Given the description of an element on the screen output the (x, y) to click on. 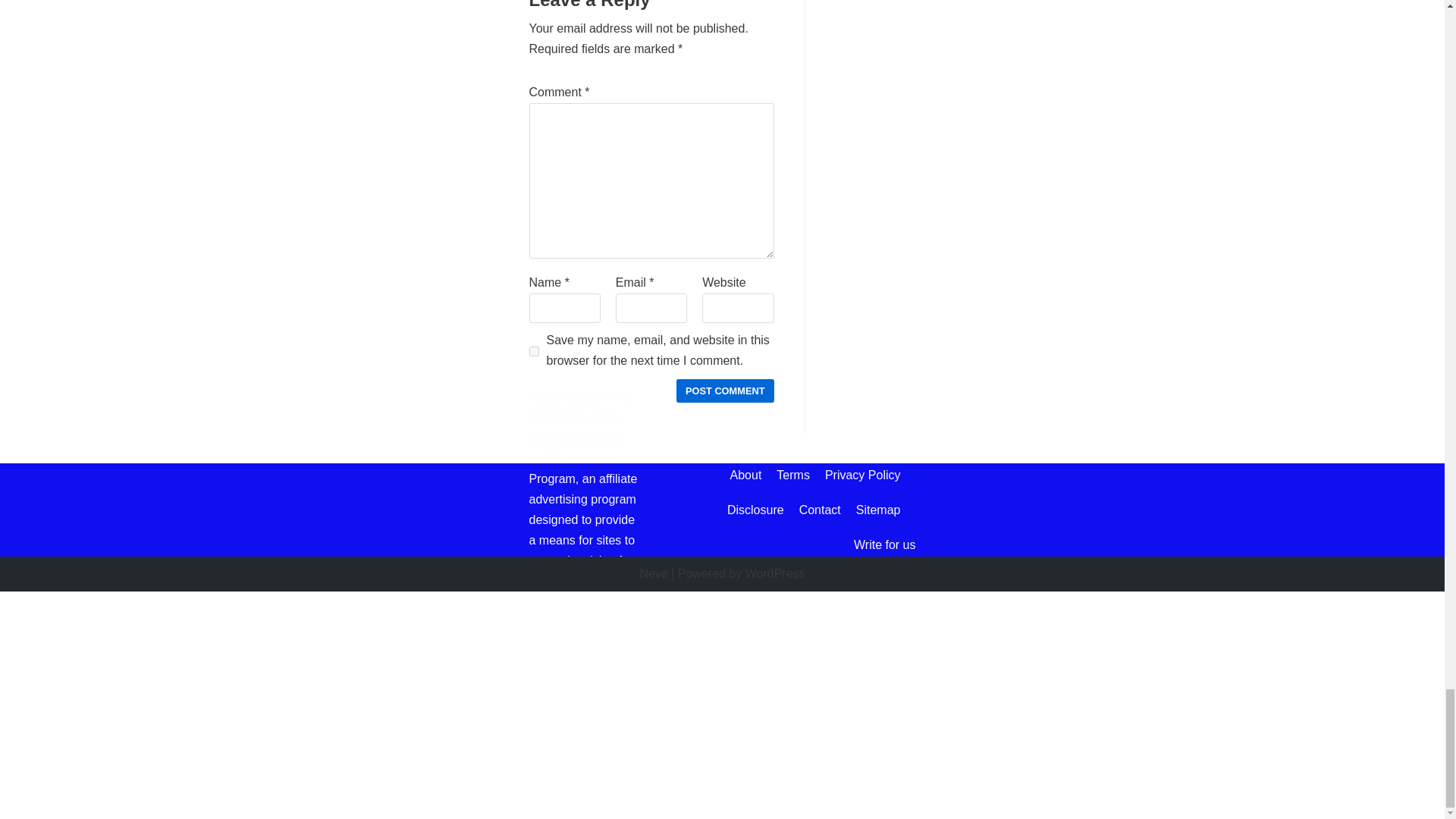
Post Comment (725, 390)
yes (533, 351)
Post Comment (725, 390)
